Given the description of an element on the screen output the (x, y) to click on. 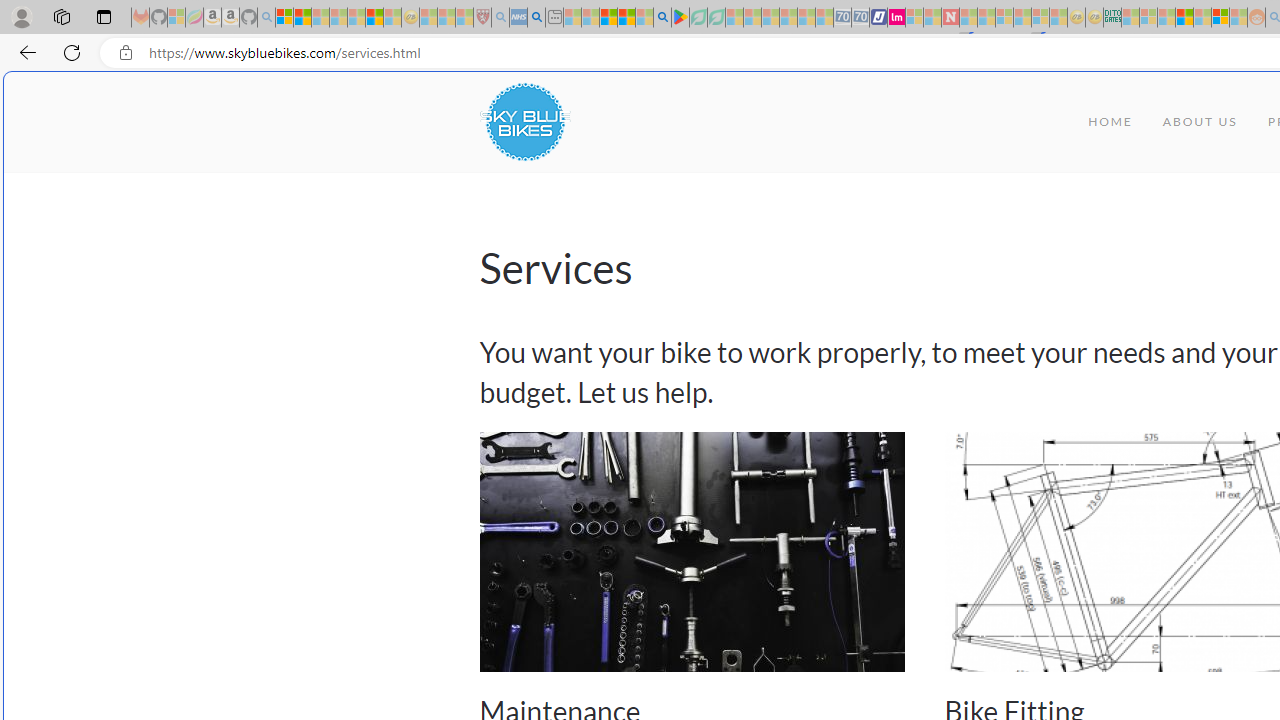
Jobs - lastminute.com Investor Portal (896, 17)
